Given the description of an element on the screen output the (x, y) to click on. 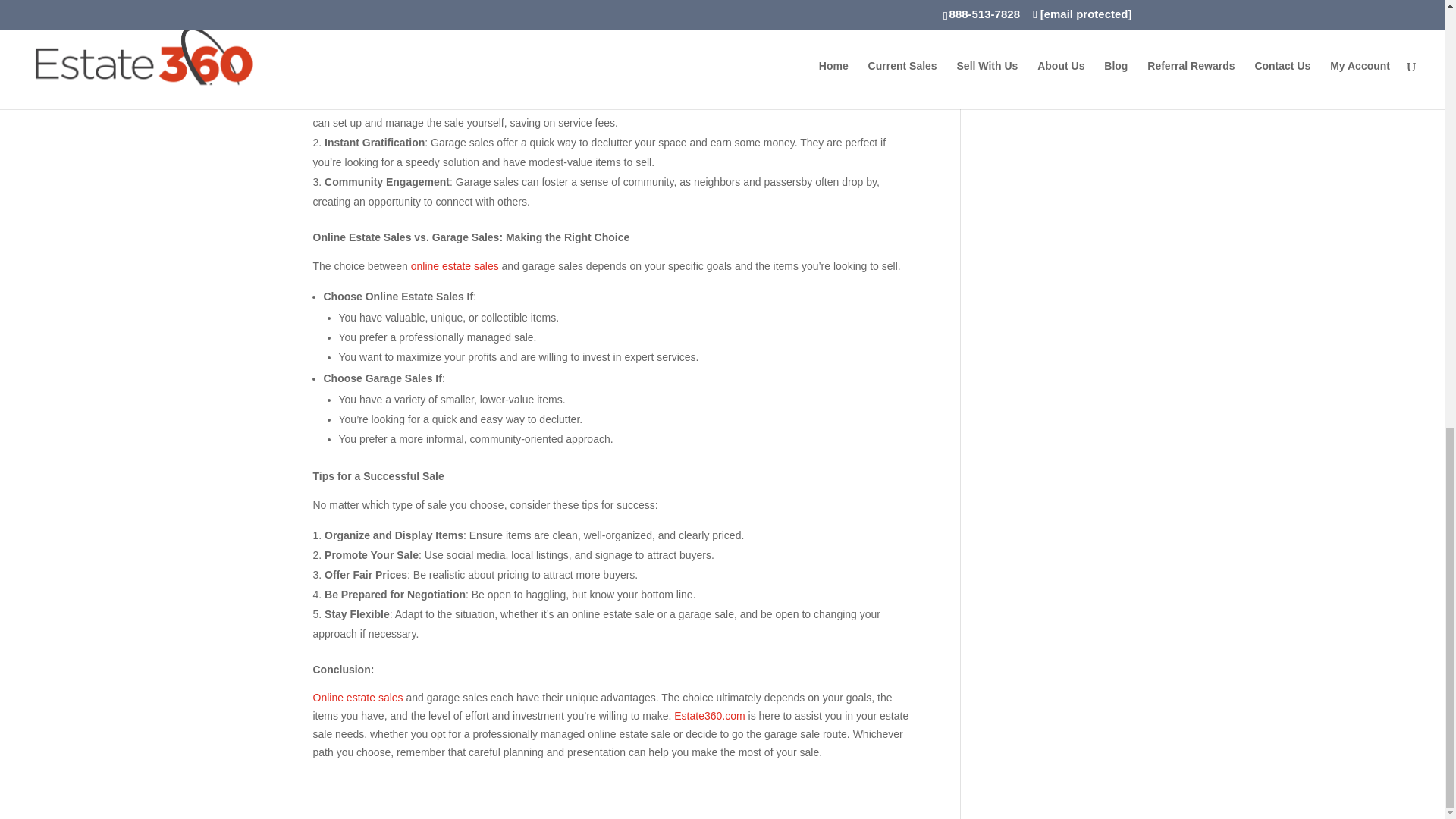
Online estate sales (358, 697)
Estate360.com (709, 715)
hiring a professional company (809, 102)
Estate360.com (591, 18)
online estate sales (454, 265)
